Given the description of an element on the screen output the (x, y) to click on. 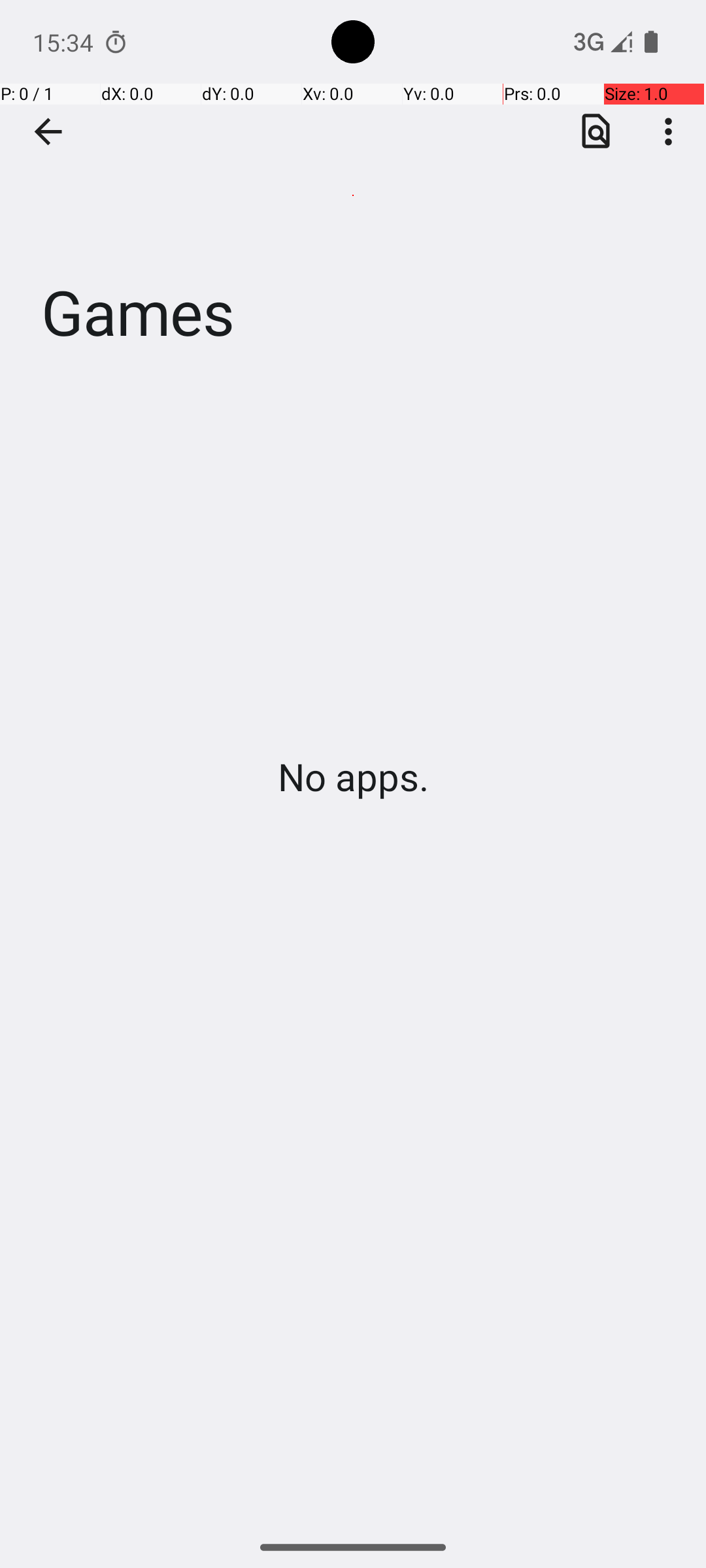
No apps. Element type: android.widget.TextView (353, 776)
